Given the description of an element on the screen output the (x, y) to click on. 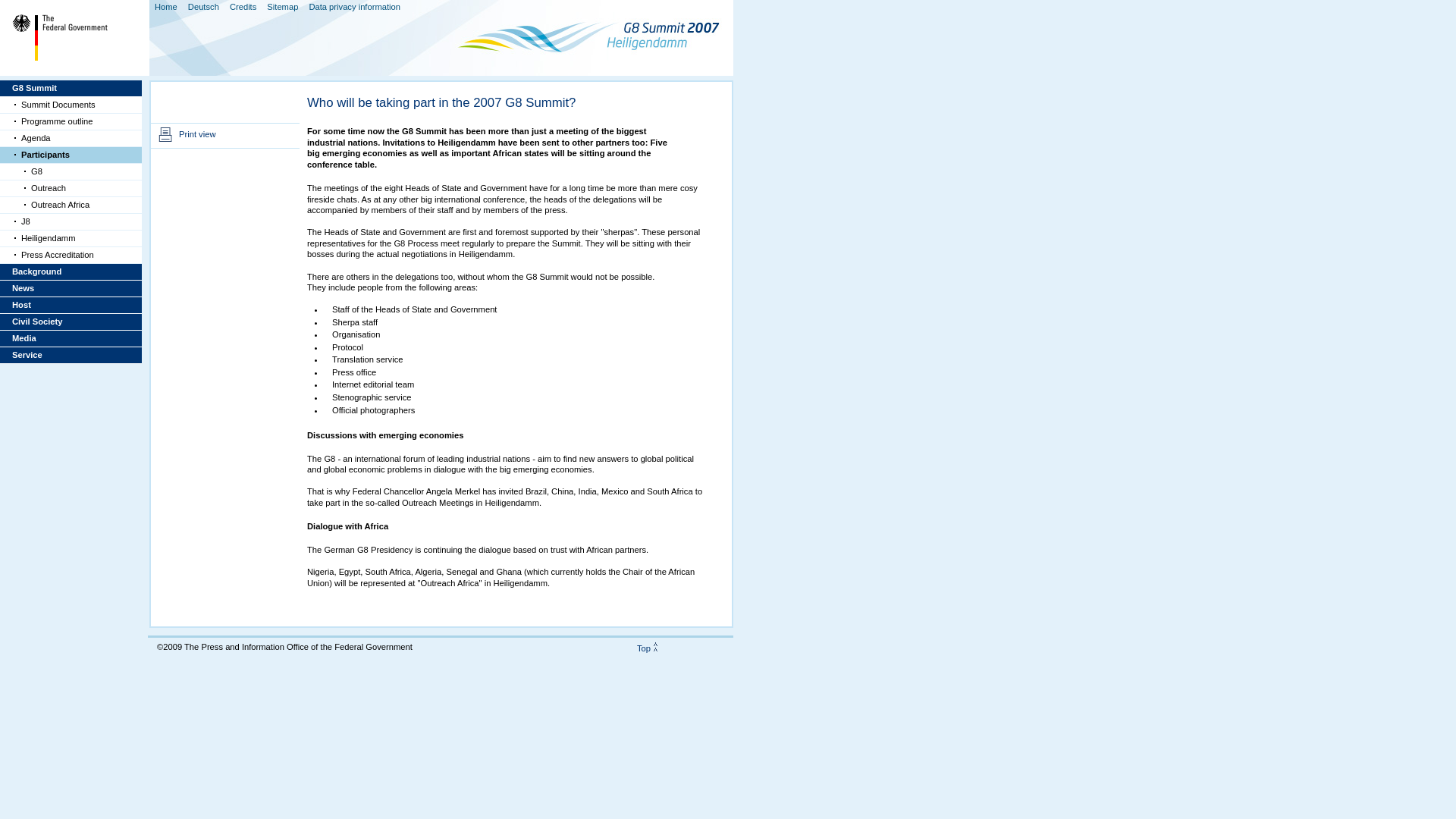
Data privacy information (357, 5)
Heiligendamm (70, 238)
To the column: J8 (70, 221)
Outreach Africa (70, 205)
Summit Documents (70, 105)
To the column: Summit Documents (70, 105)
G8 (70, 171)
Credits (245, 5)
